Given the description of an element on the screen output the (x, y) to click on. 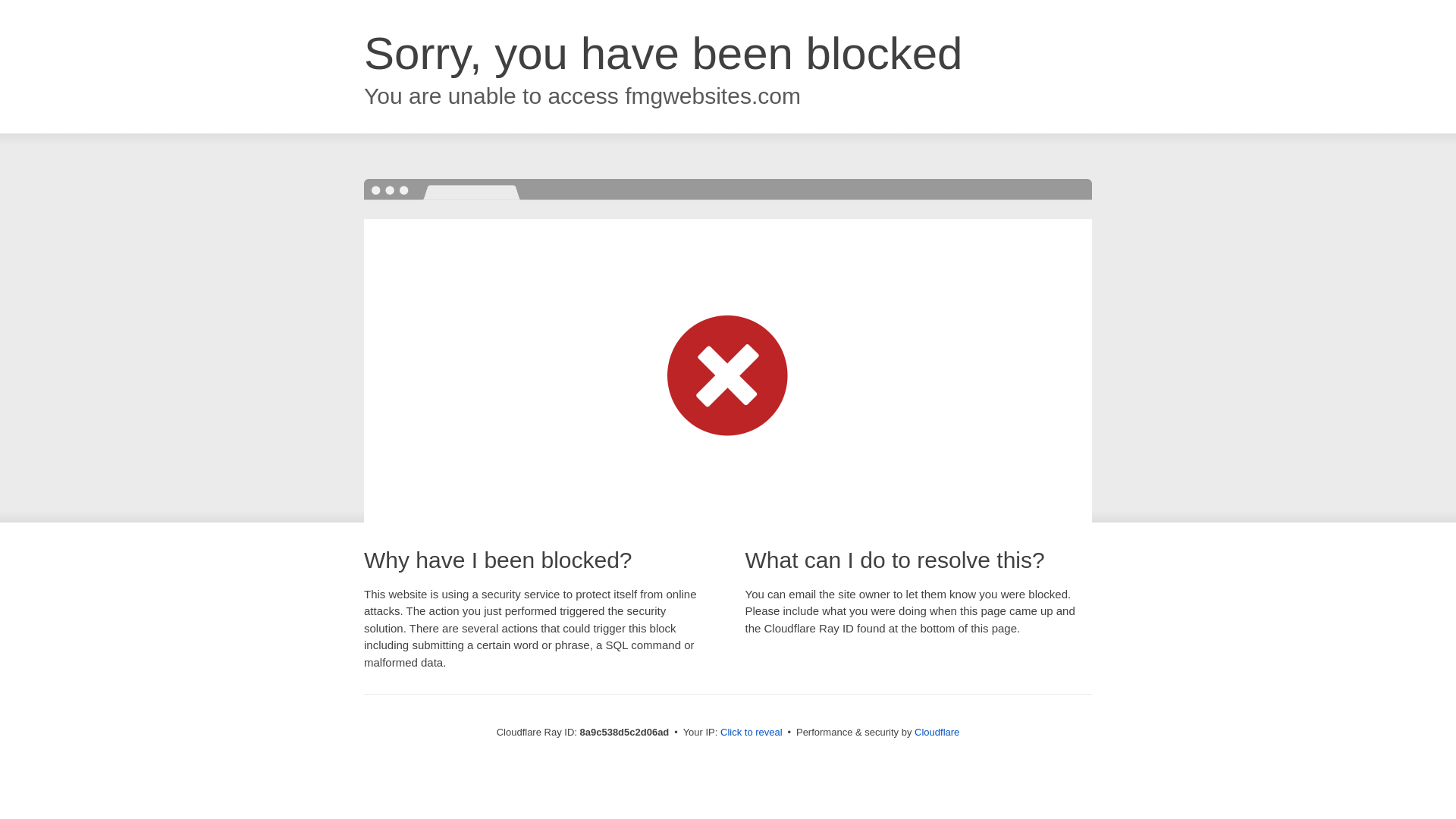
Click to reveal (751, 732)
Cloudflare (936, 731)
